Given the description of an element on the screen output the (x, y) to click on. 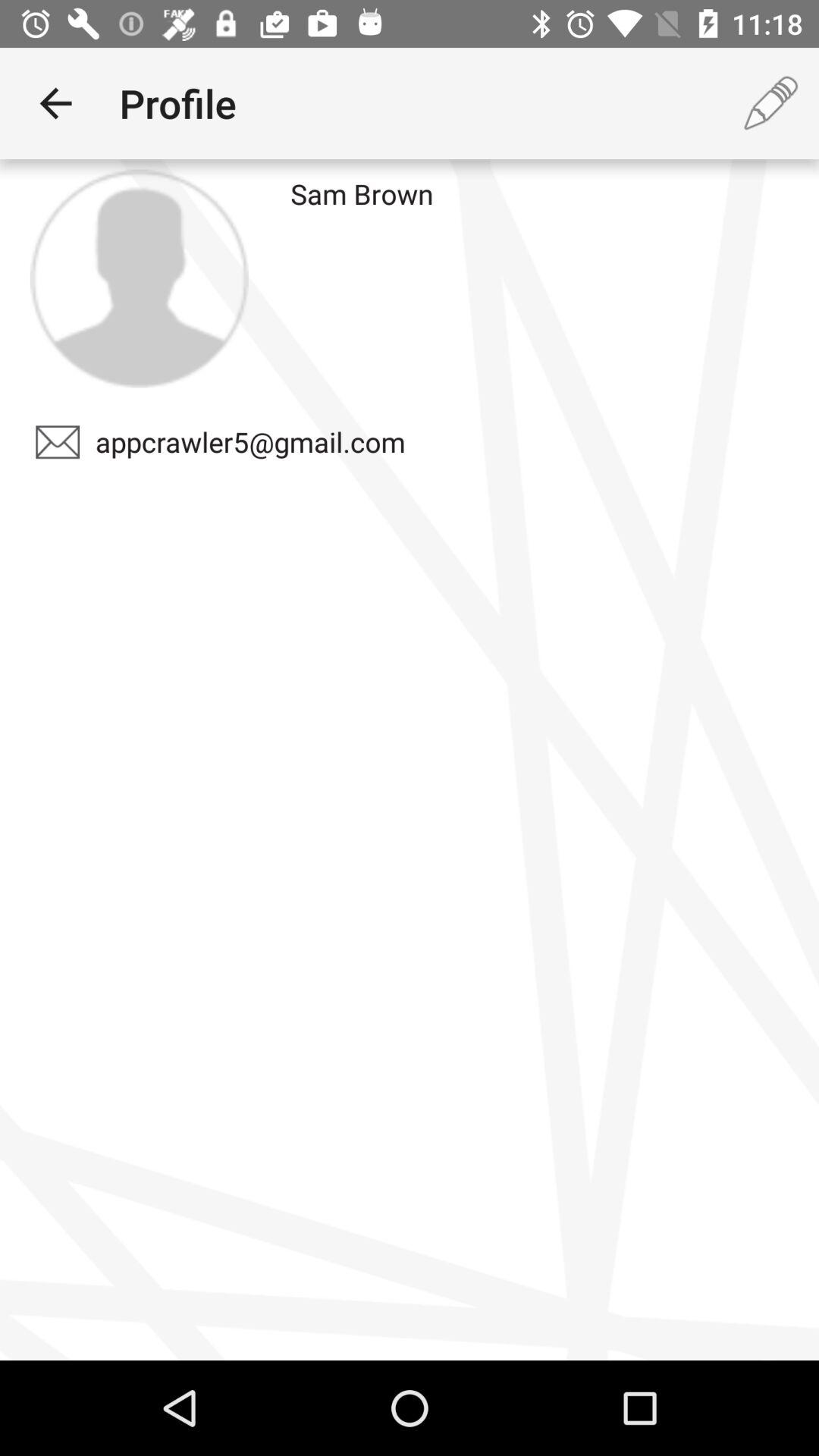
click icon above the appcrawler5@gmail.com (139, 278)
